Given the description of an element on the screen output the (x, y) to click on. 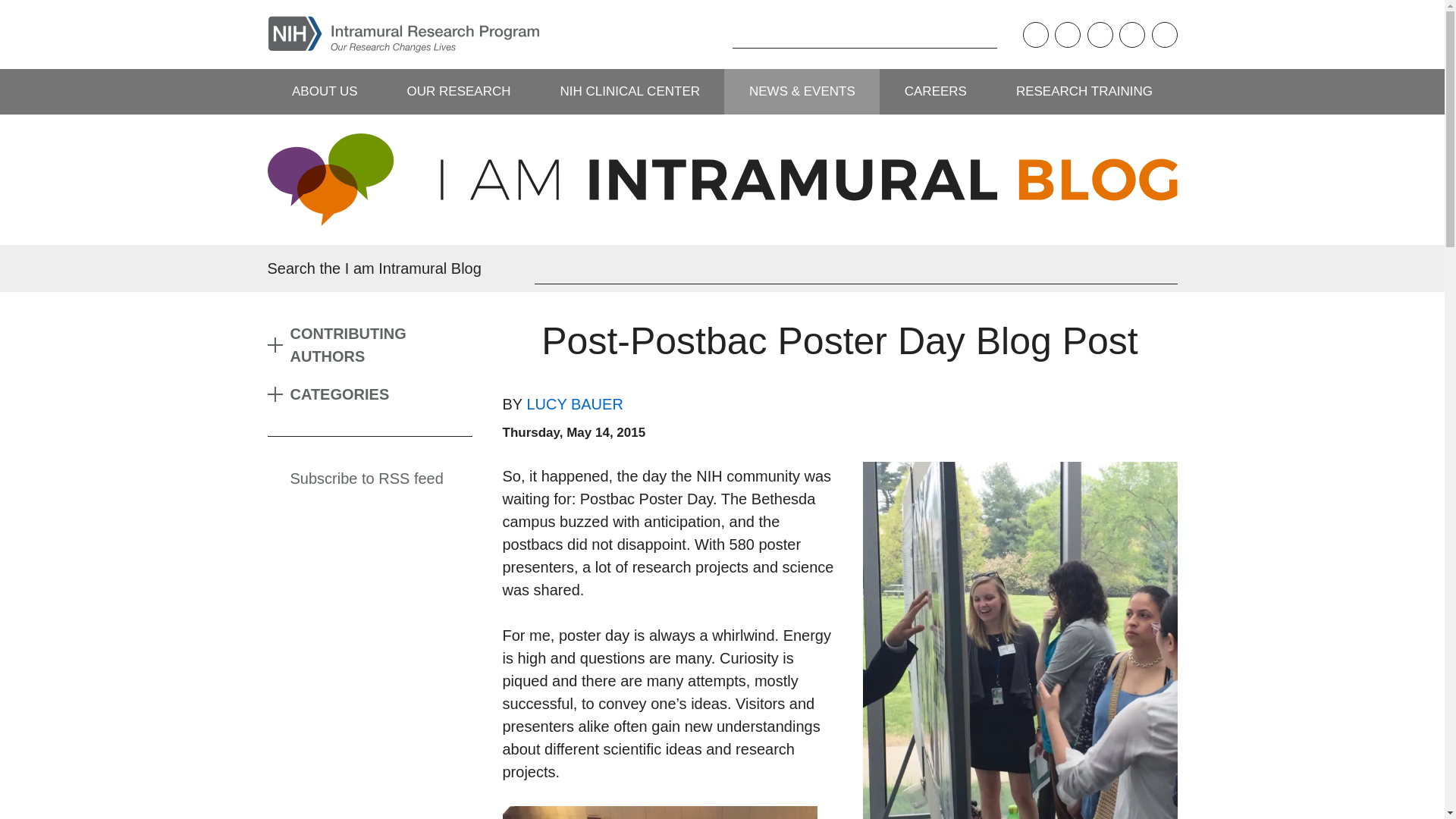
ABOUT US (323, 91)
Skip to main content (11, 11)
Podcast (1035, 34)
SEARCH (707, 34)
